Given the description of an element on the screen output the (x, y) to click on. 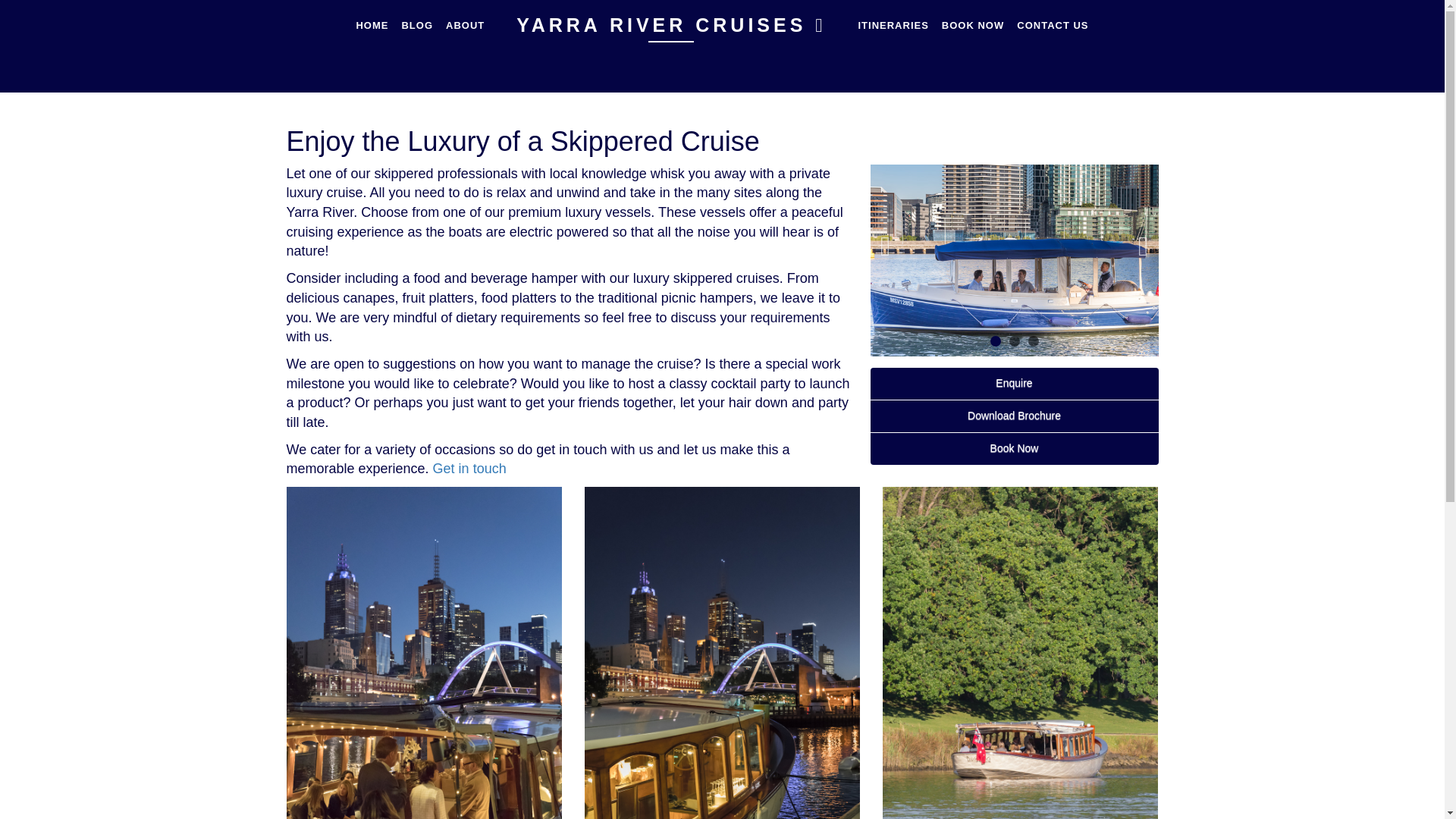
Download Brochure (1014, 416)
Book Now (1014, 449)
CONTACT US (1052, 24)
About (464, 24)
YARRA RIVER CRUISES (670, 24)
BOOK NOW (972, 24)
Enquire (1014, 383)
Itineraries (892, 24)
Yarra River Cruises (670, 24)
ITINERARIES (892, 24)
ABOUT (464, 24)
Get in touch (469, 468)
